Given the description of an element on the screen output the (x, y) to click on. 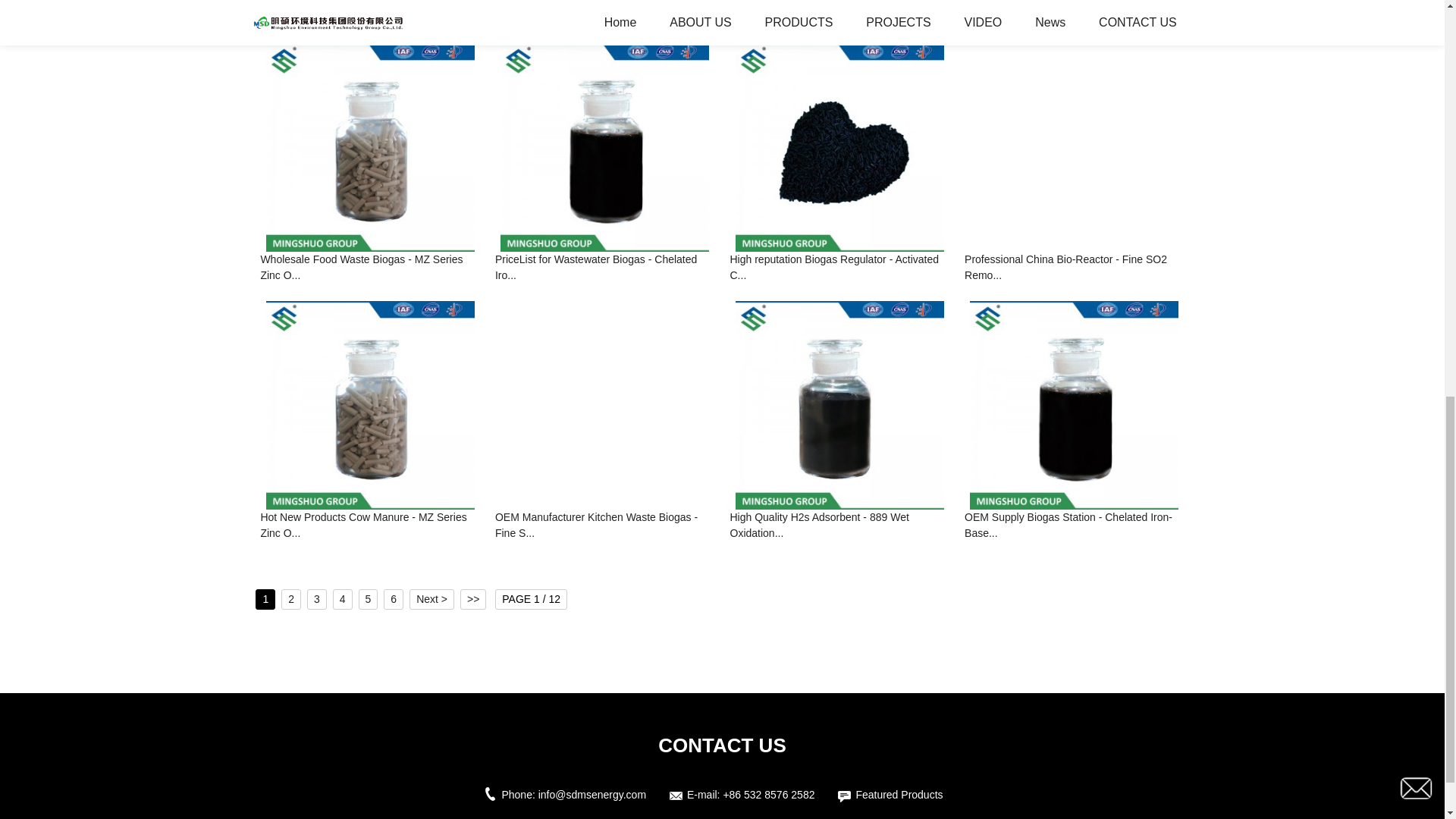
Cheap price Biogas Almacenamiento - 889 Wet Ox... (839, 13)
PriceList for Wastewater Biogas - Chelated Iro... (604, 268)
Wholesale Price China Swine Waste - Activated ... (370, 13)
Wholesale Food Waste Biogas - MZ Series Zinc O... (370, 268)
The Last Page (473, 598)
Hot New Products Cow Manure - MZ Series Zinc O... (370, 526)
High reputation Biogas Regulator - Activated C... (839, 268)
Professional China Bio-Reactor - Fine SO2 Remo... (1074, 268)
Well-designed Desulfurizer For Nature Gas - Ch... (1074, 13)
